Given the description of an element on the screen output the (x, y) to click on. 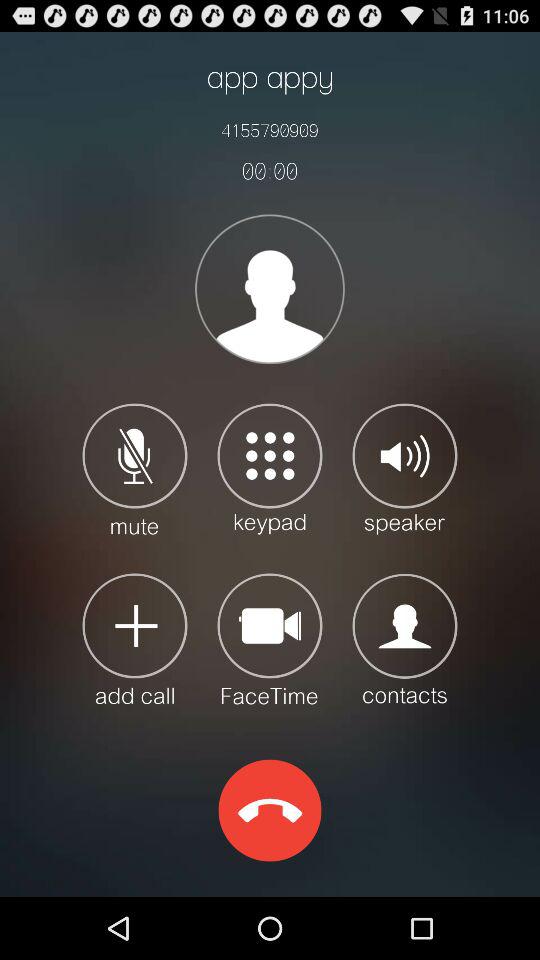
keypad (269, 468)
